Given the description of an element on the screen output the (x, y) to click on. 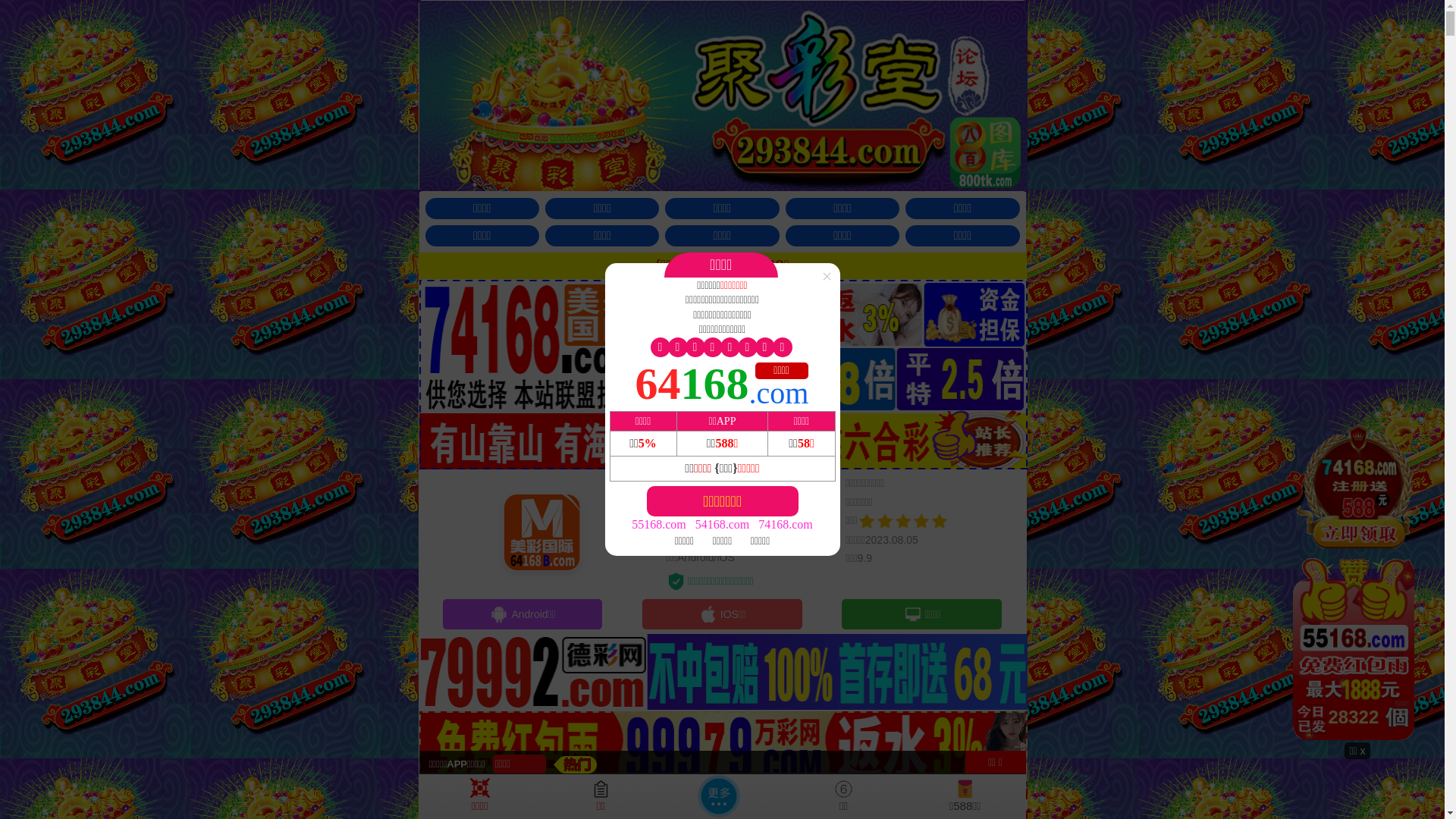
28575 Element type: text (1356, 581)
